Given the description of an element on the screen output the (x, y) to click on. 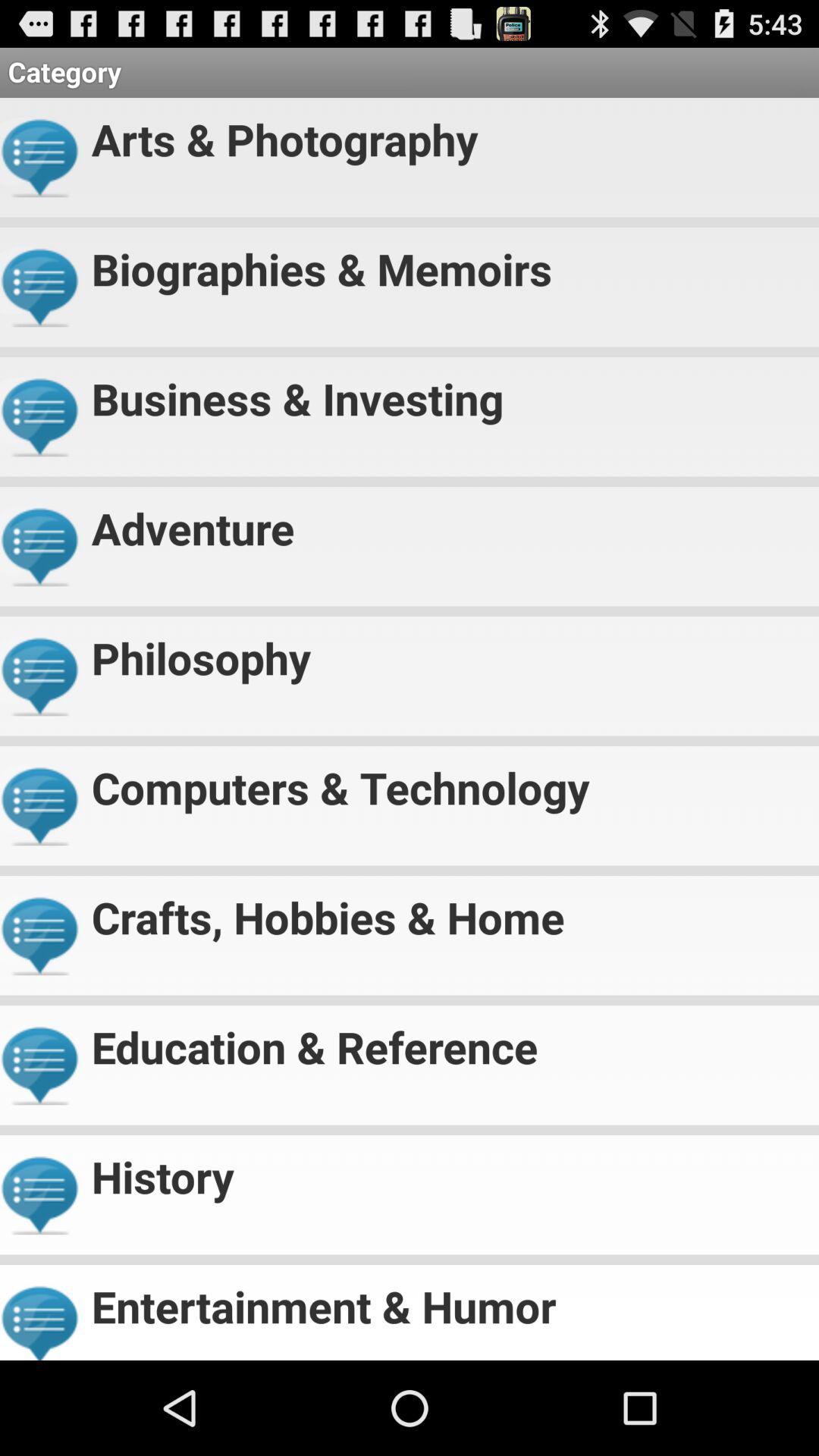
turn on philosophy (449, 651)
